Given the description of an element on the screen output the (x, y) to click on. 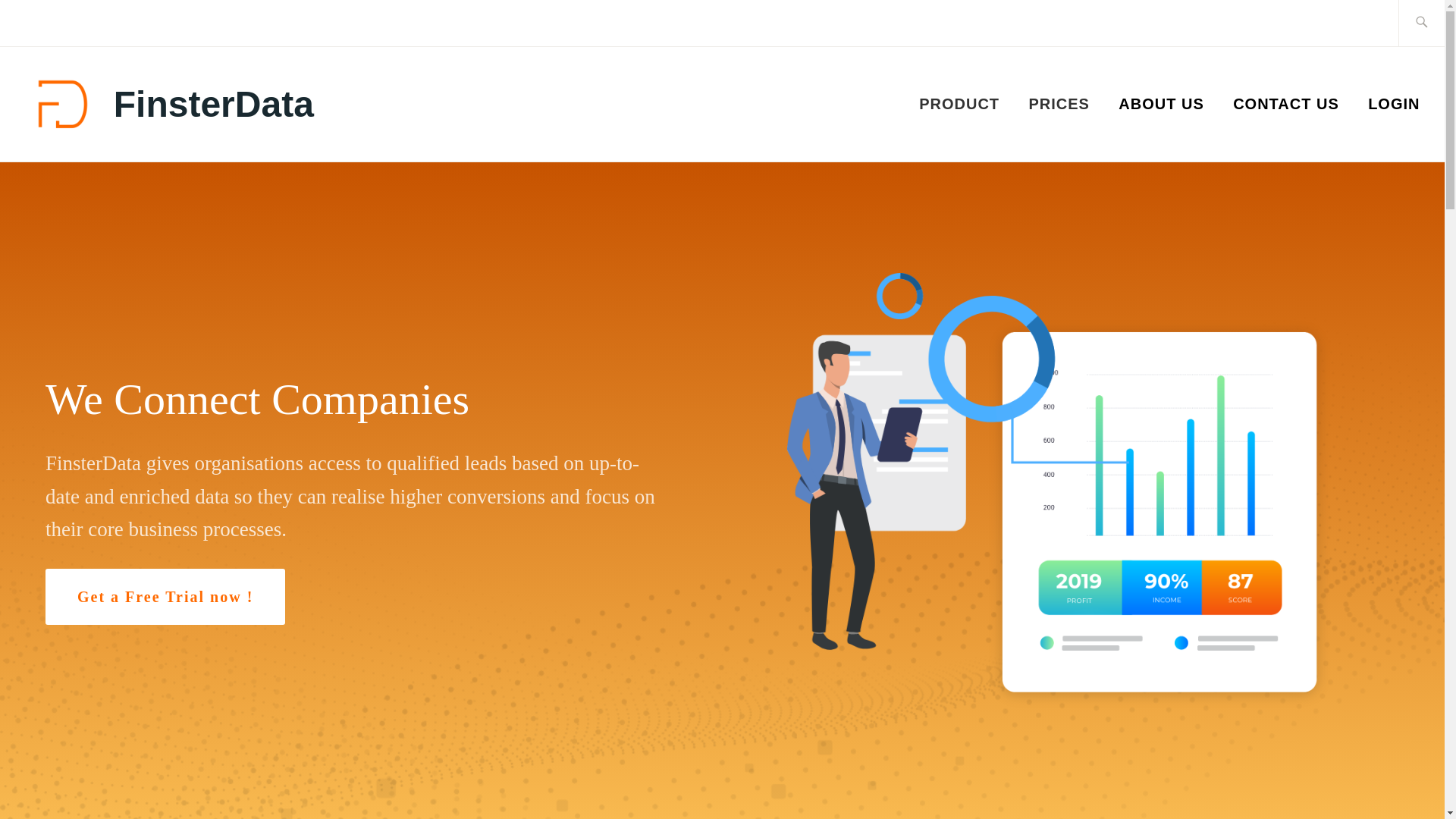
LOGIN (1393, 104)
Get a Free Trial now ! (165, 596)
ABOUT US (1161, 104)
PRICES (1058, 104)
FinsterData (213, 104)
PRODUCT (958, 104)
CONTACT US (1286, 104)
Search (47, 22)
